Given the description of an element on the screen output the (x, y) to click on. 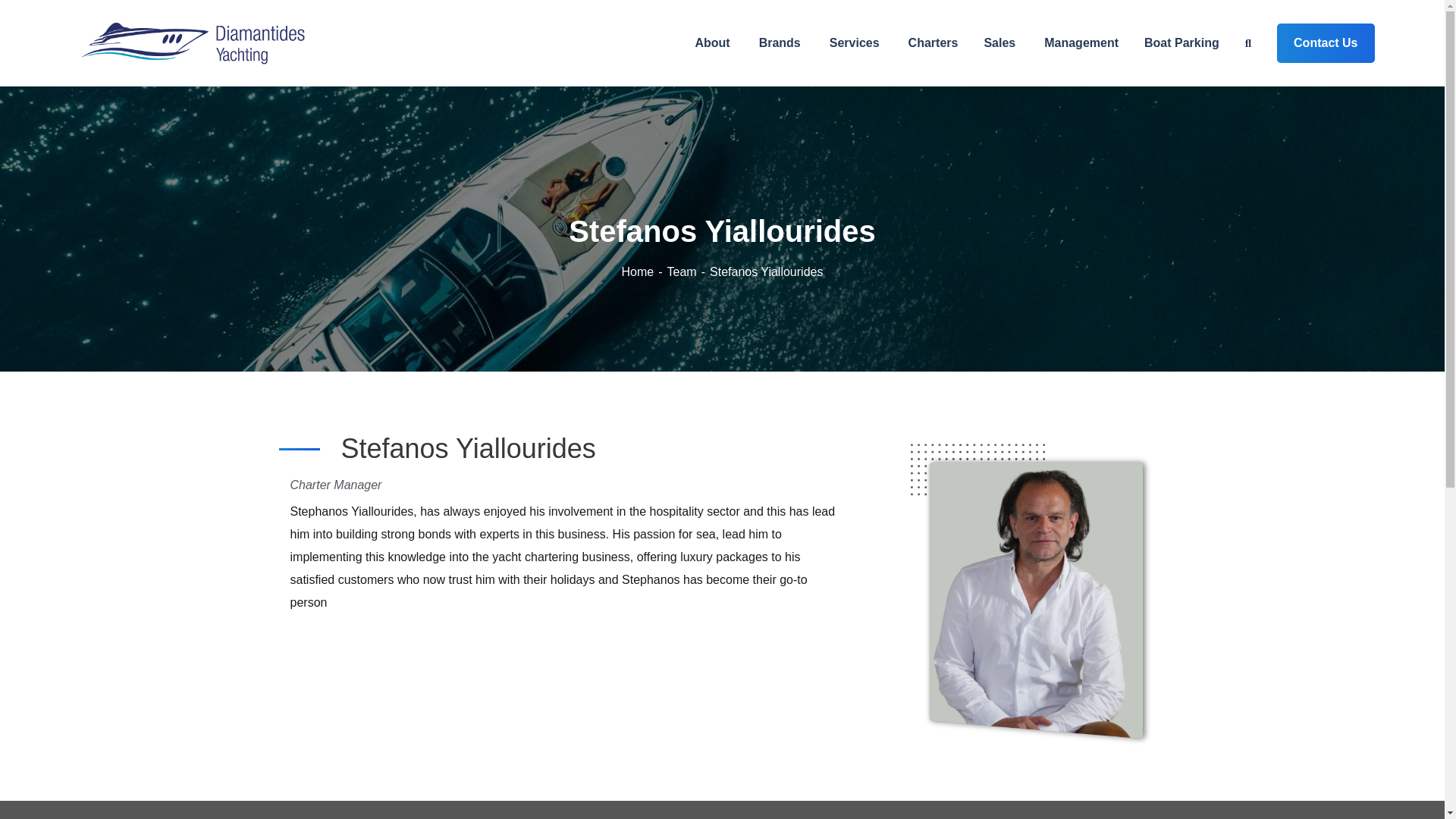
Home (643, 271)
Contact Us (1325, 43)
Company (736, 488)
News (596, 520)
Home (596, 488)
Team (688, 271)
Diamantides Yachting (192, 42)
iso (1044, 743)
